Given the description of an element on the screen output the (x, y) to click on. 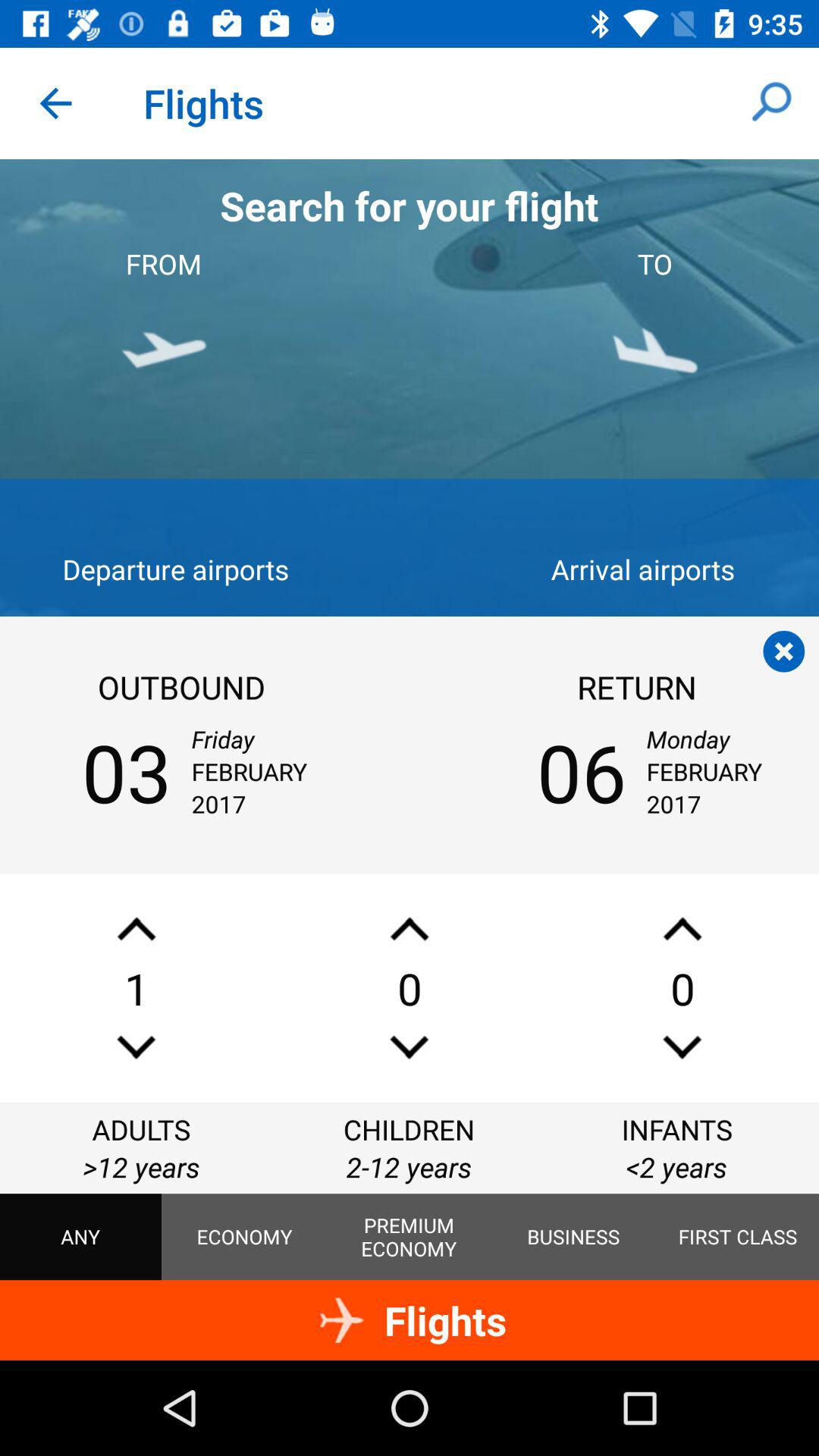
press icon to the right of business item (737, 1236)
